Given the description of an element on the screen output the (x, y) to click on. 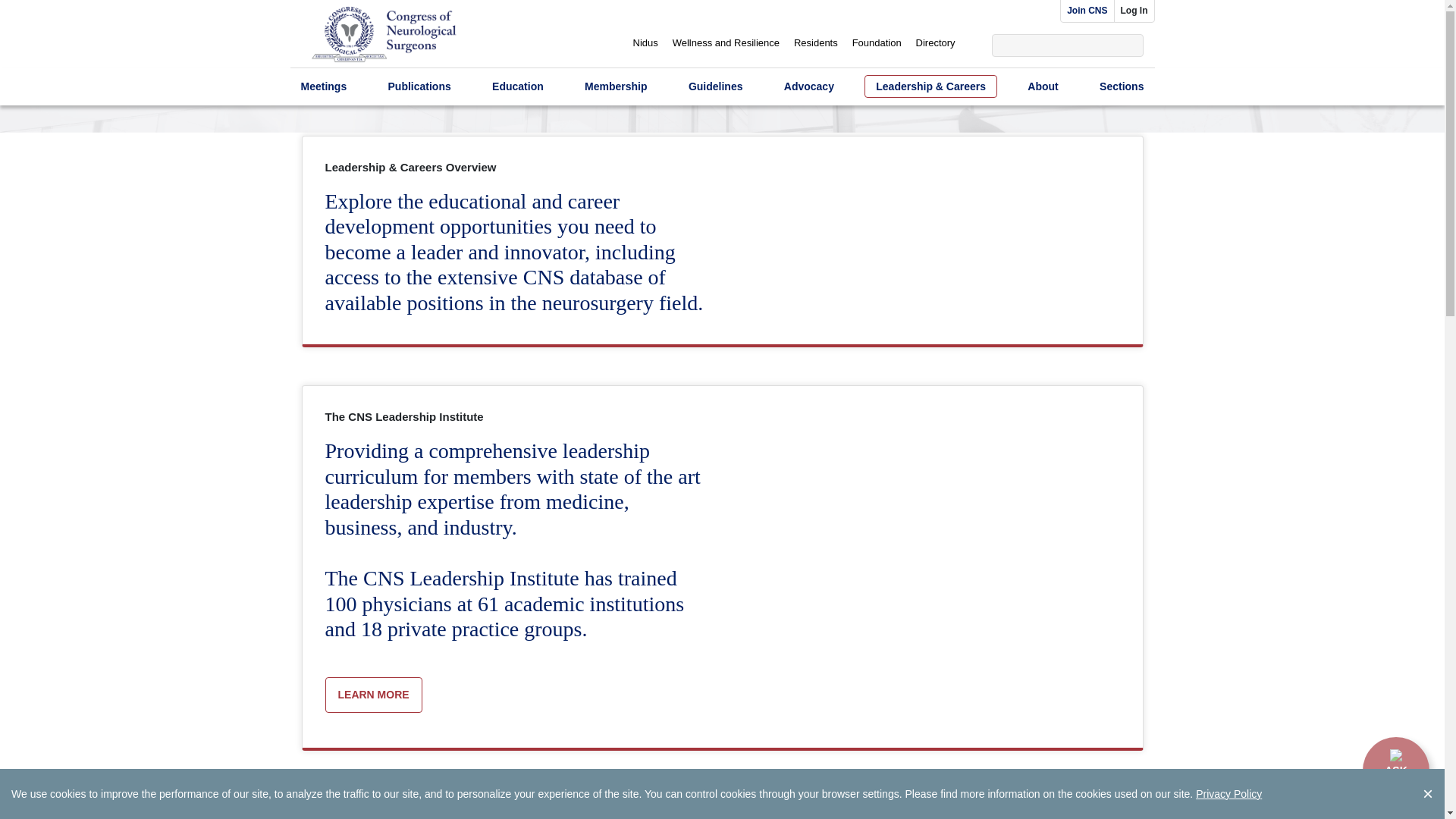
Meetings (322, 86)
Publications (419, 86)
Nidus (644, 42)
Log In (1133, 11)
cns.org (383, 36)
Wellness and Resilience (725, 42)
Join CNS (1086, 11)
Residents (815, 42)
Foundation (876, 42)
Directory (935, 42)
